Given the description of an element on the screen output the (x, y) to click on. 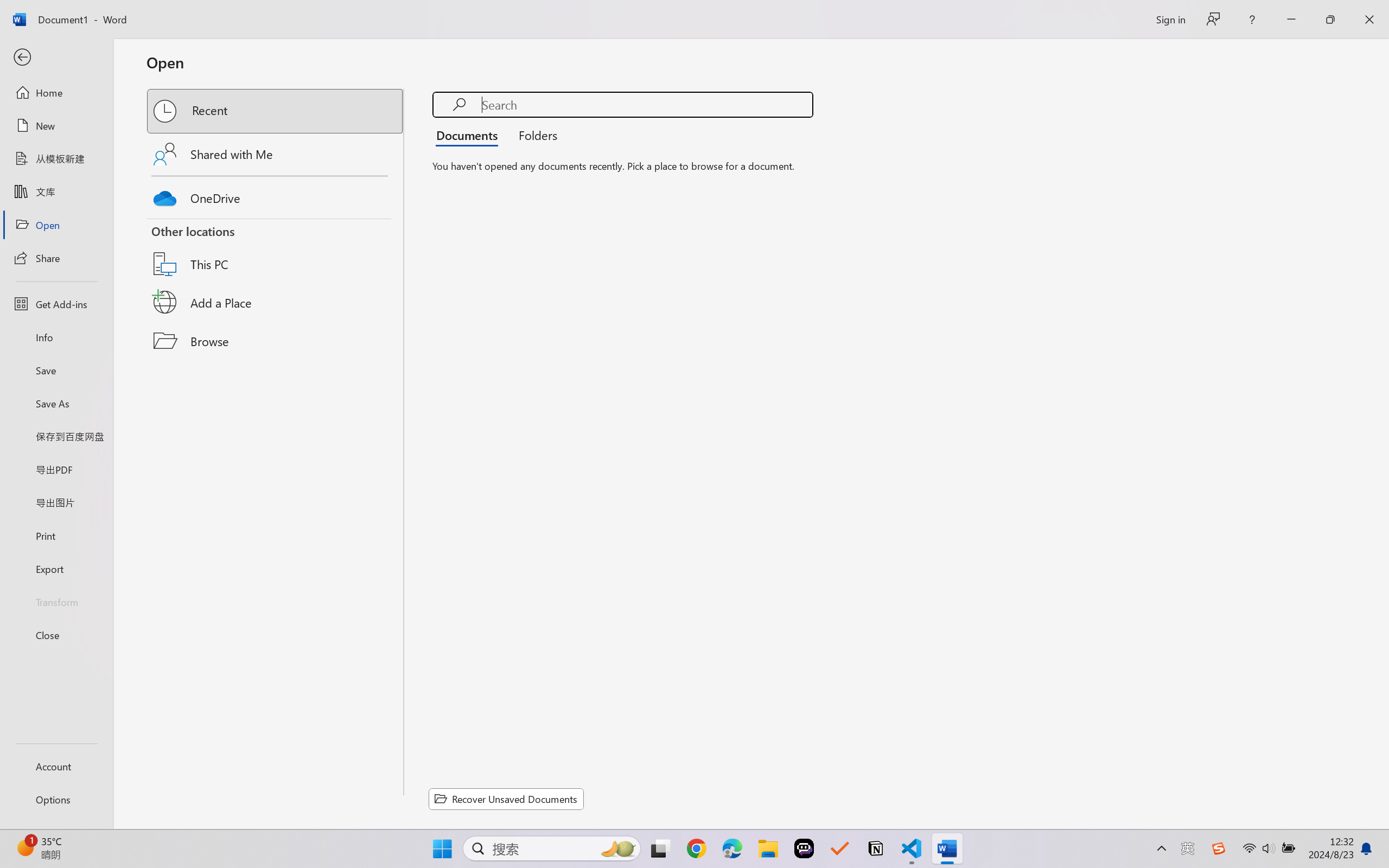
Transform (56, 601)
Export (56, 568)
This PC (275, 249)
Get Add-ins (56, 303)
Recover Unsaved Documents (506, 798)
OneDrive (275, 195)
Back (56, 57)
Recent (275, 110)
